Given the description of an element on the screen output the (x, y) to click on. 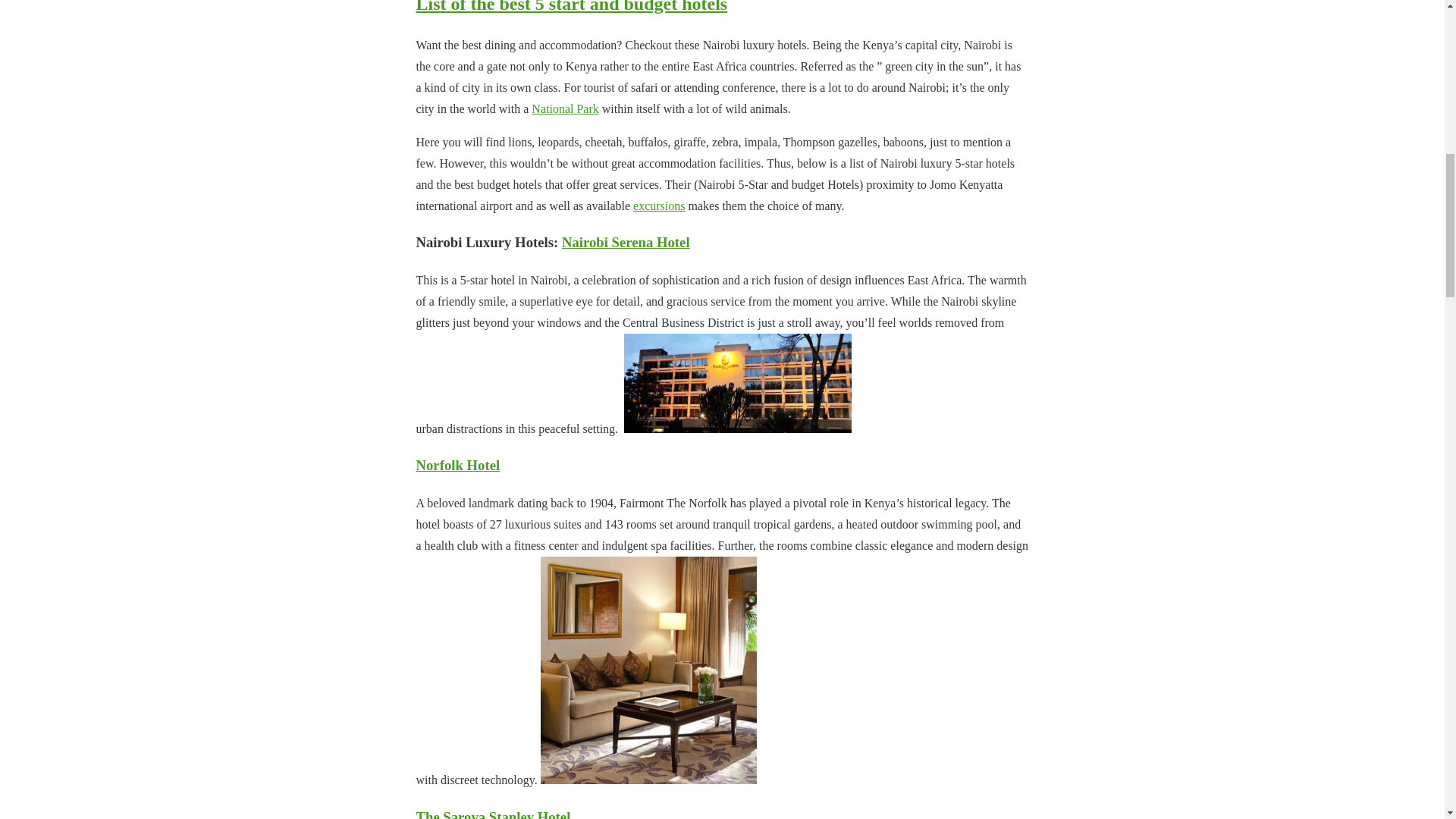
Norfolk Hotel (456, 465)
Africa Kenya safari and beach holiday packages (737, 383)
Nairobi Serena Hotel (626, 242)
List of the best 5 start and budget hotels (570, 6)
The Sarova Stanley Hotel (492, 814)
excursions (658, 205)
Africa Kenya safari and beach holiday packages (648, 669)
National Park (564, 108)
